Given the description of an element on the screen output the (x, y) to click on. 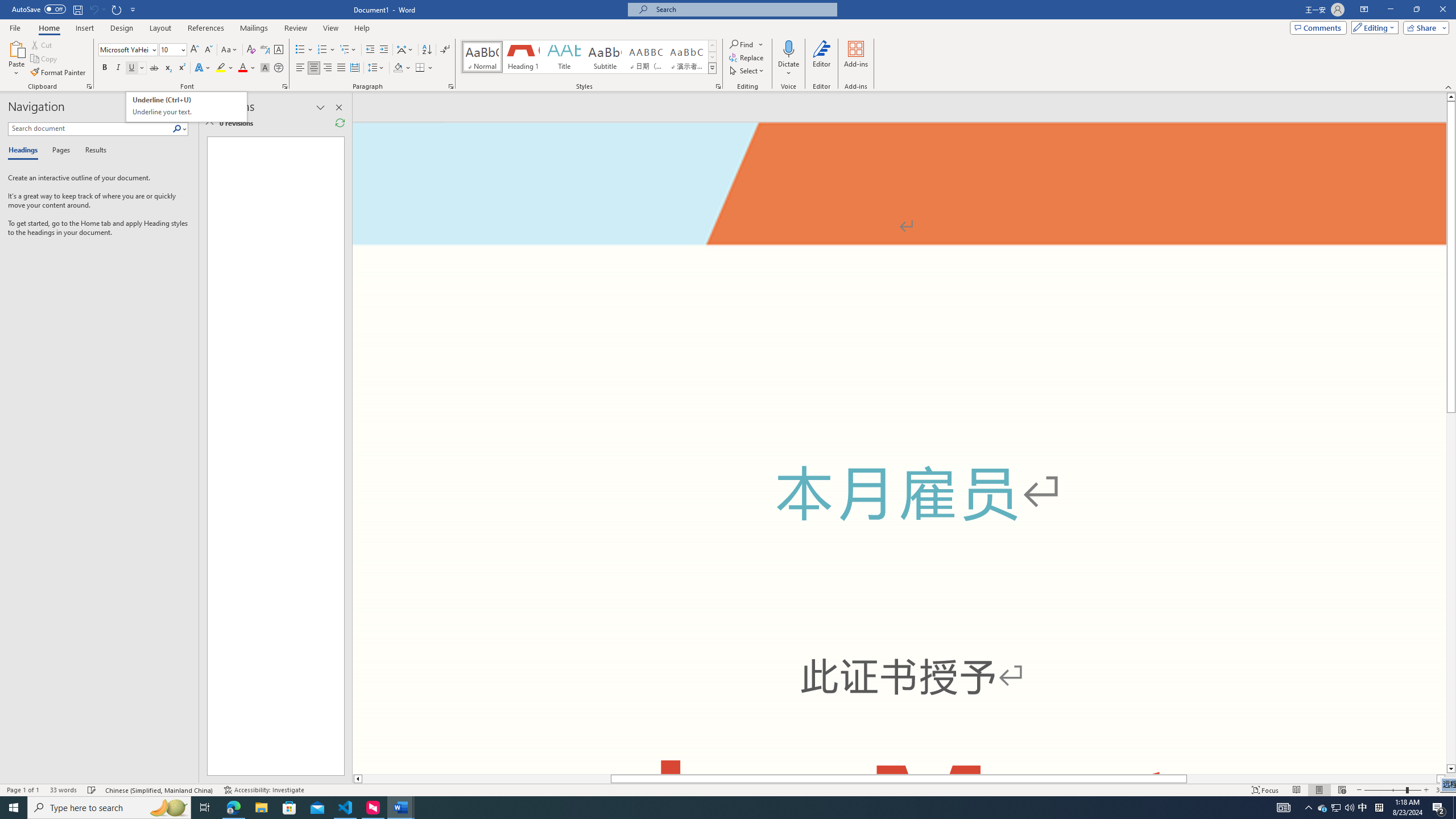
Can't Undo (186, 106)
Title (92, 9)
